Given the description of an element on the screen output the (x, y) to click on. 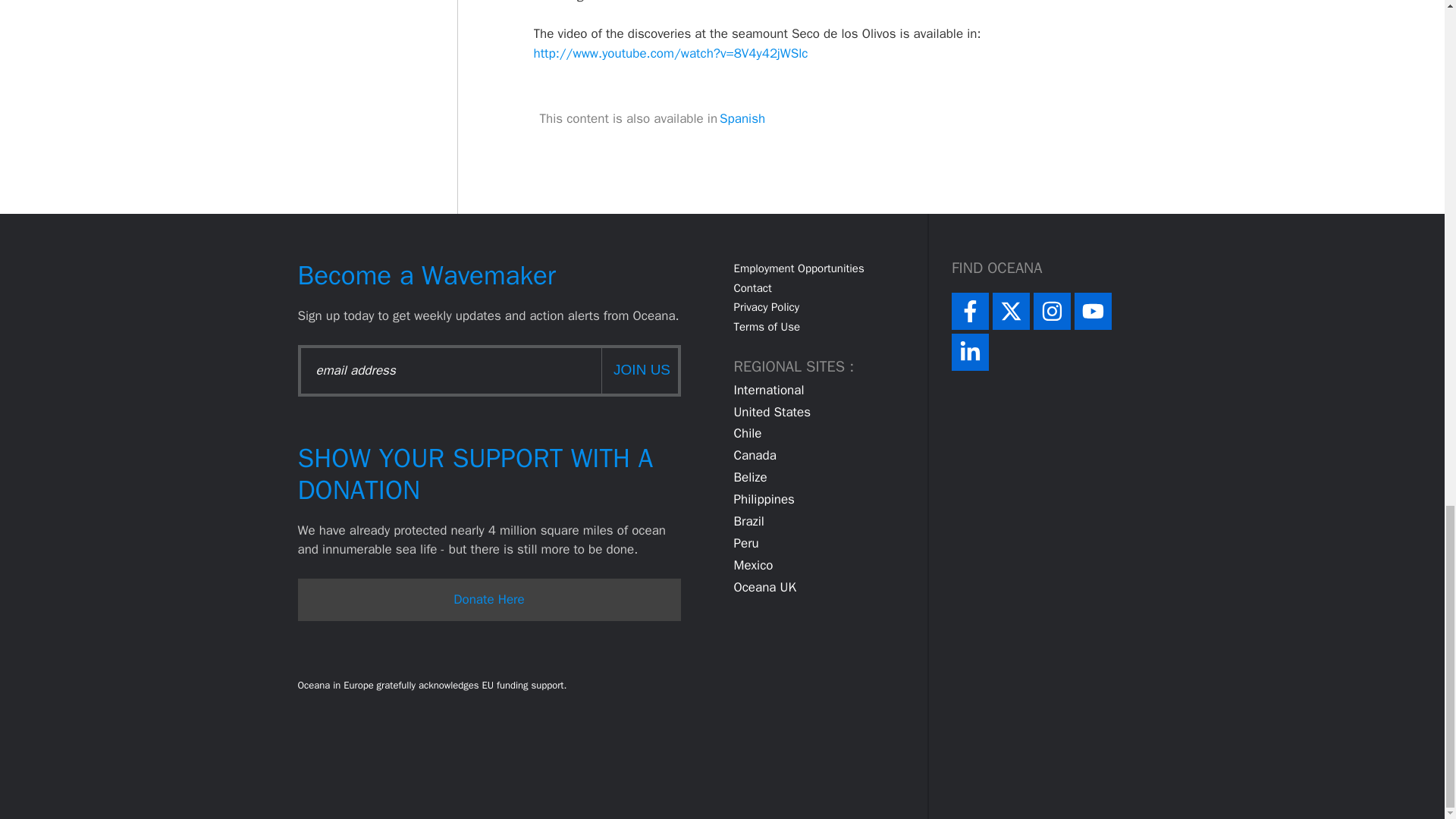
JOIN US (639, 370)
Scroll back to top (1406, 196)
Spanish (742, 118)
